Given the description of an element on the screen output the (x, y) to click on. 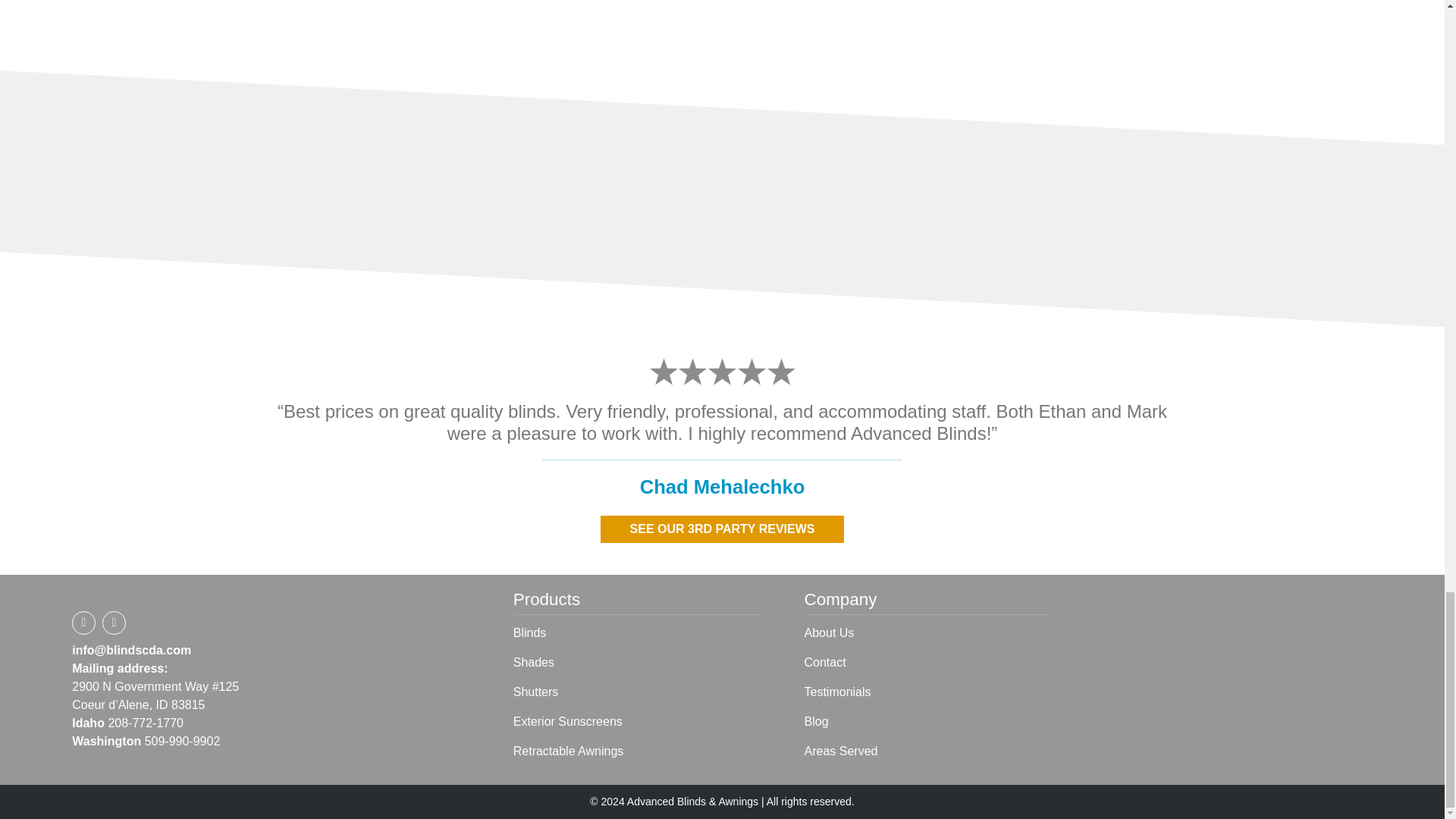
Facebook (82, 621)
Instagram (113, 621)
